Given the description of an element on the screen output the (x, y) to click on. 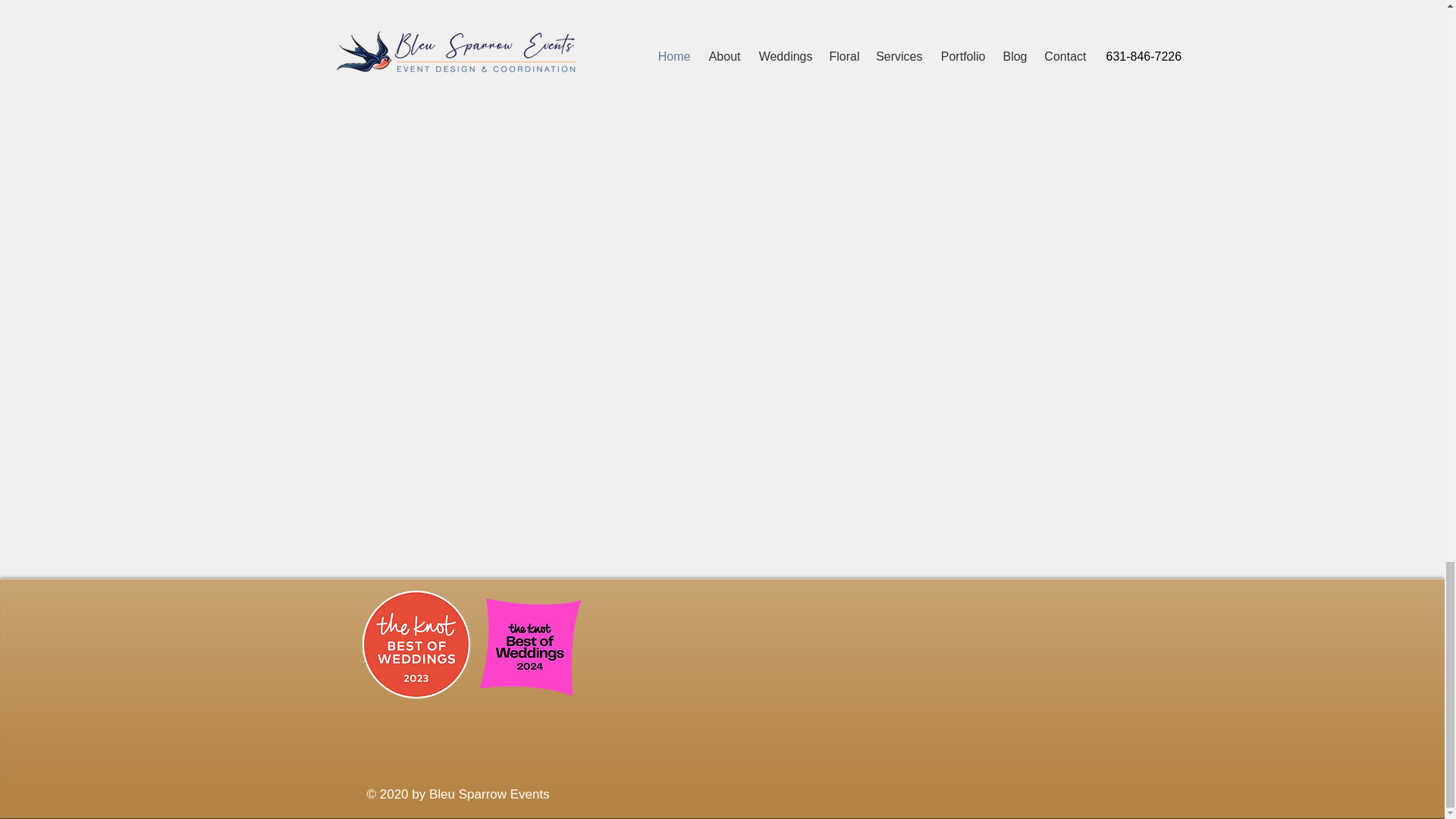
Submit (1059, 11)
